Given the description of an element on the screen output the (x, y) to click on. 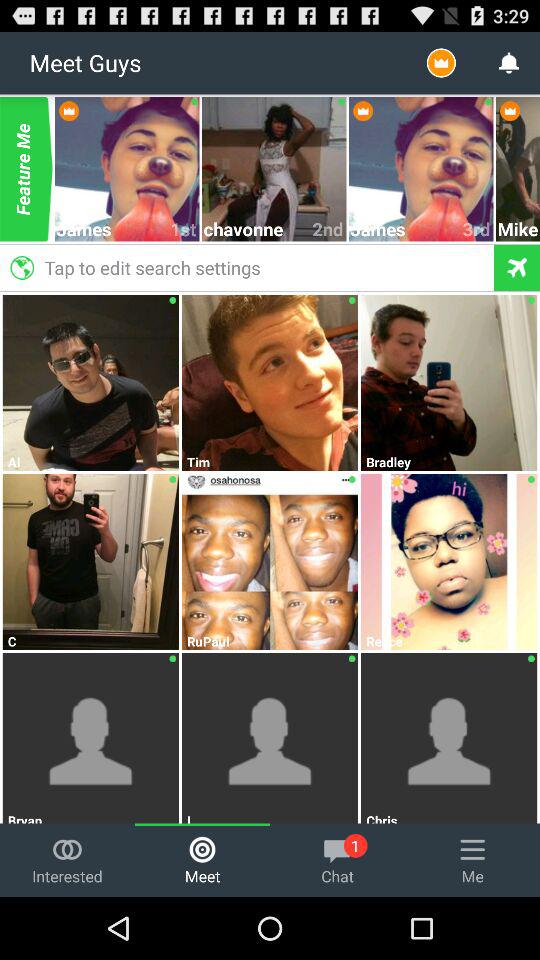
jump until reece (449, 641)
